Given the description of an element on the screen output the (x, y) to click on. 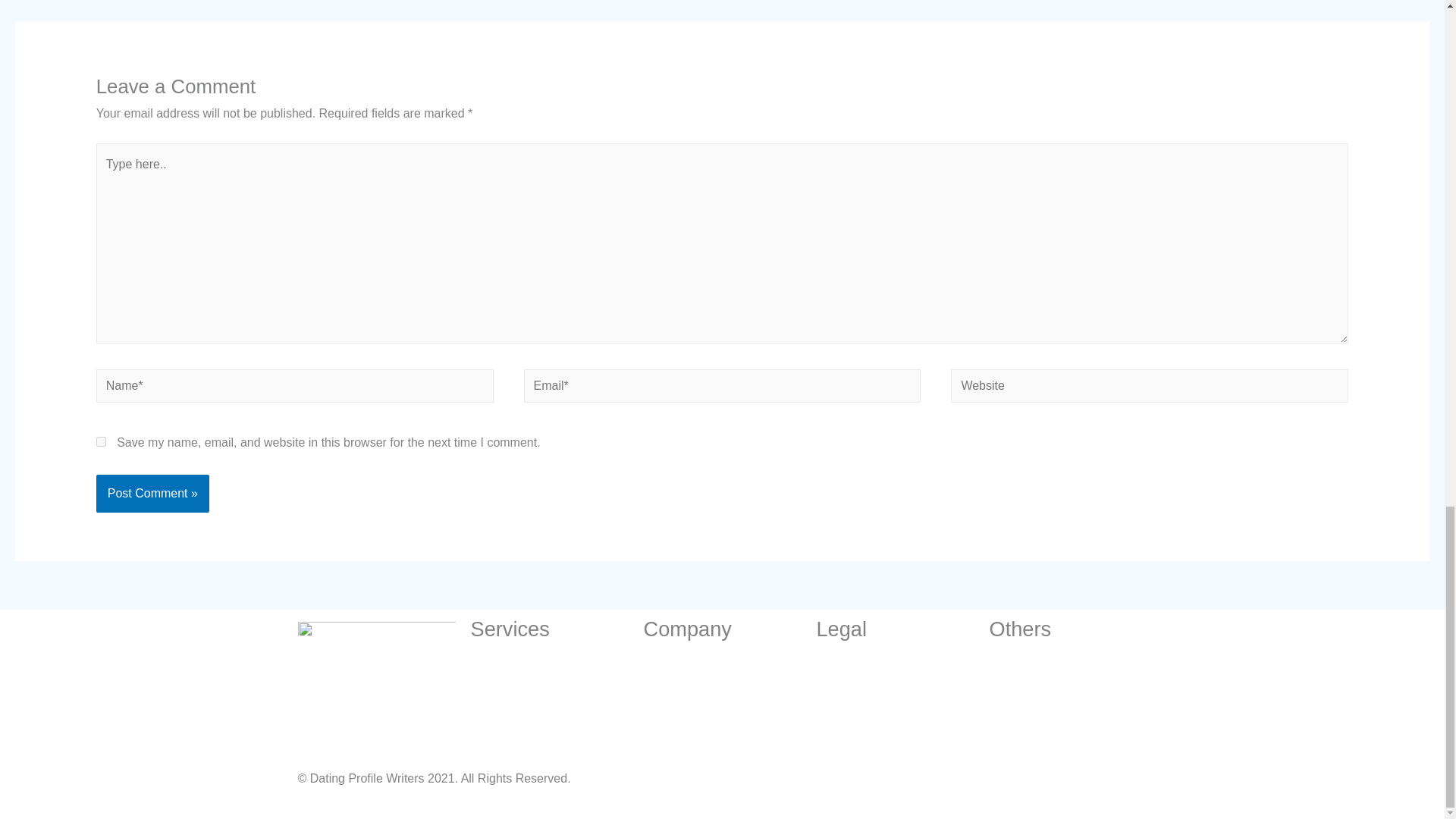
yes (101, 441)
